Given the description of an element on the screen output the (x, y) to click on. 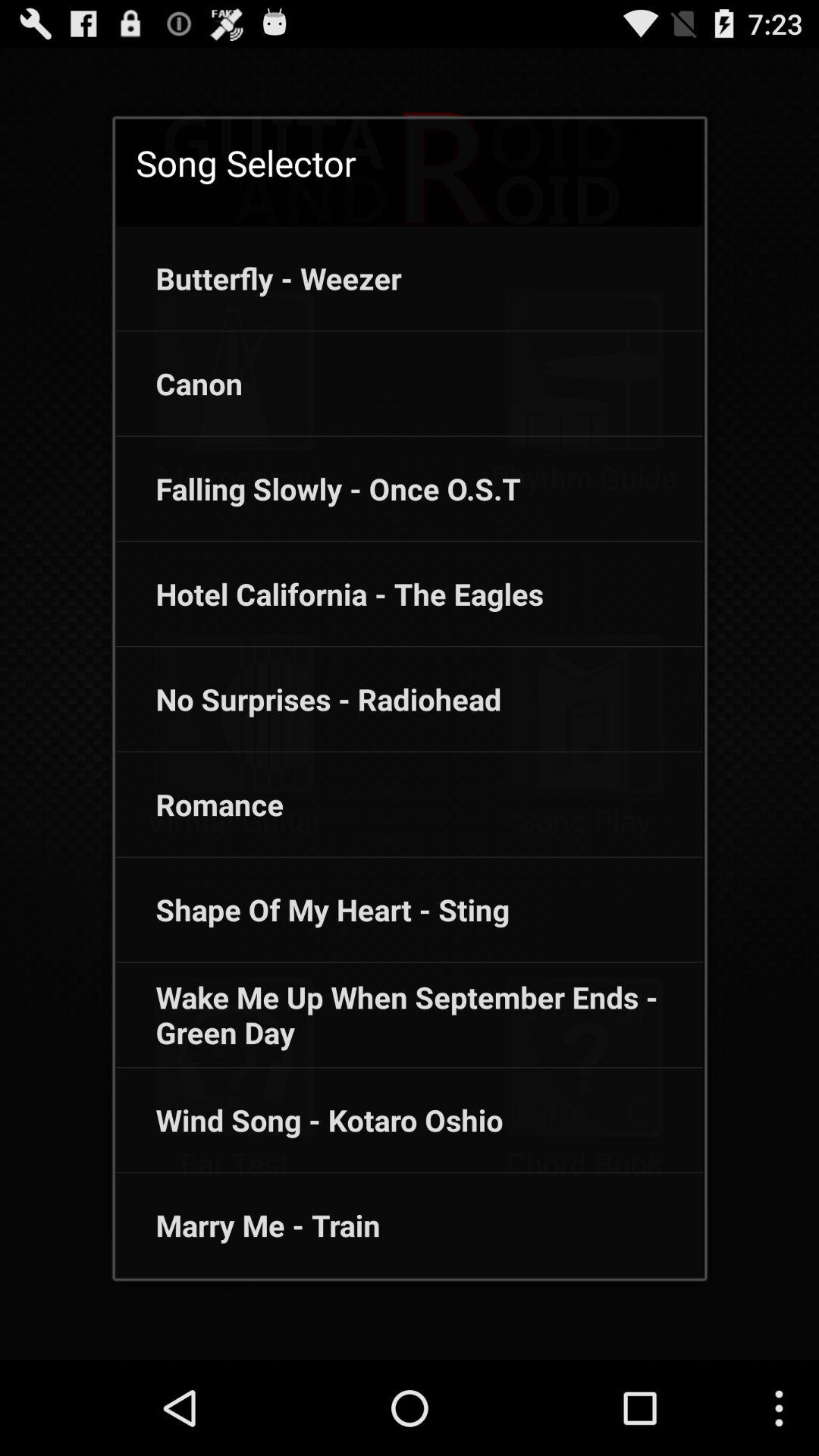
press the item below romance icon (312, 909)
